Given the description of an element on the screen output the (x, y) to click on. 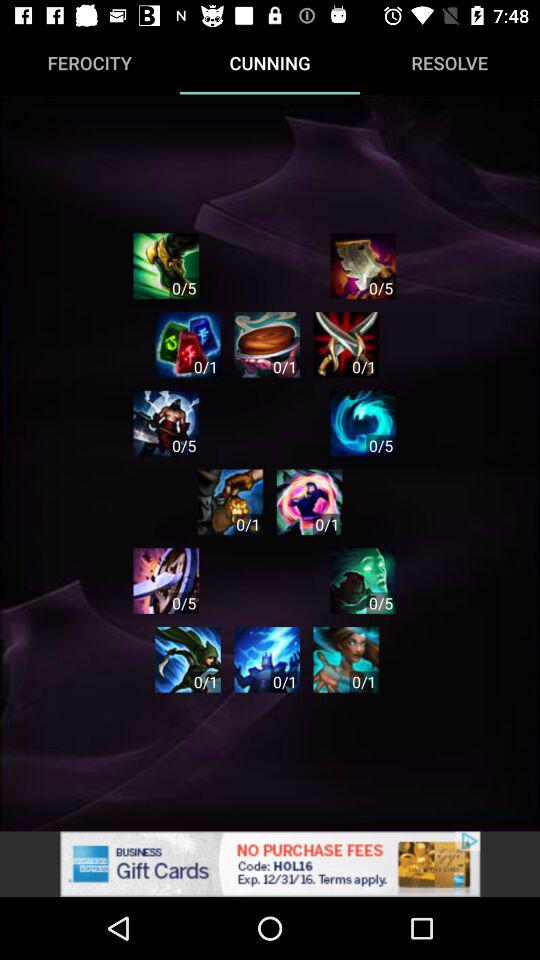
add point to a skill (363, 423)
